Given the description of an element on the screen output the (x, y) to click on. 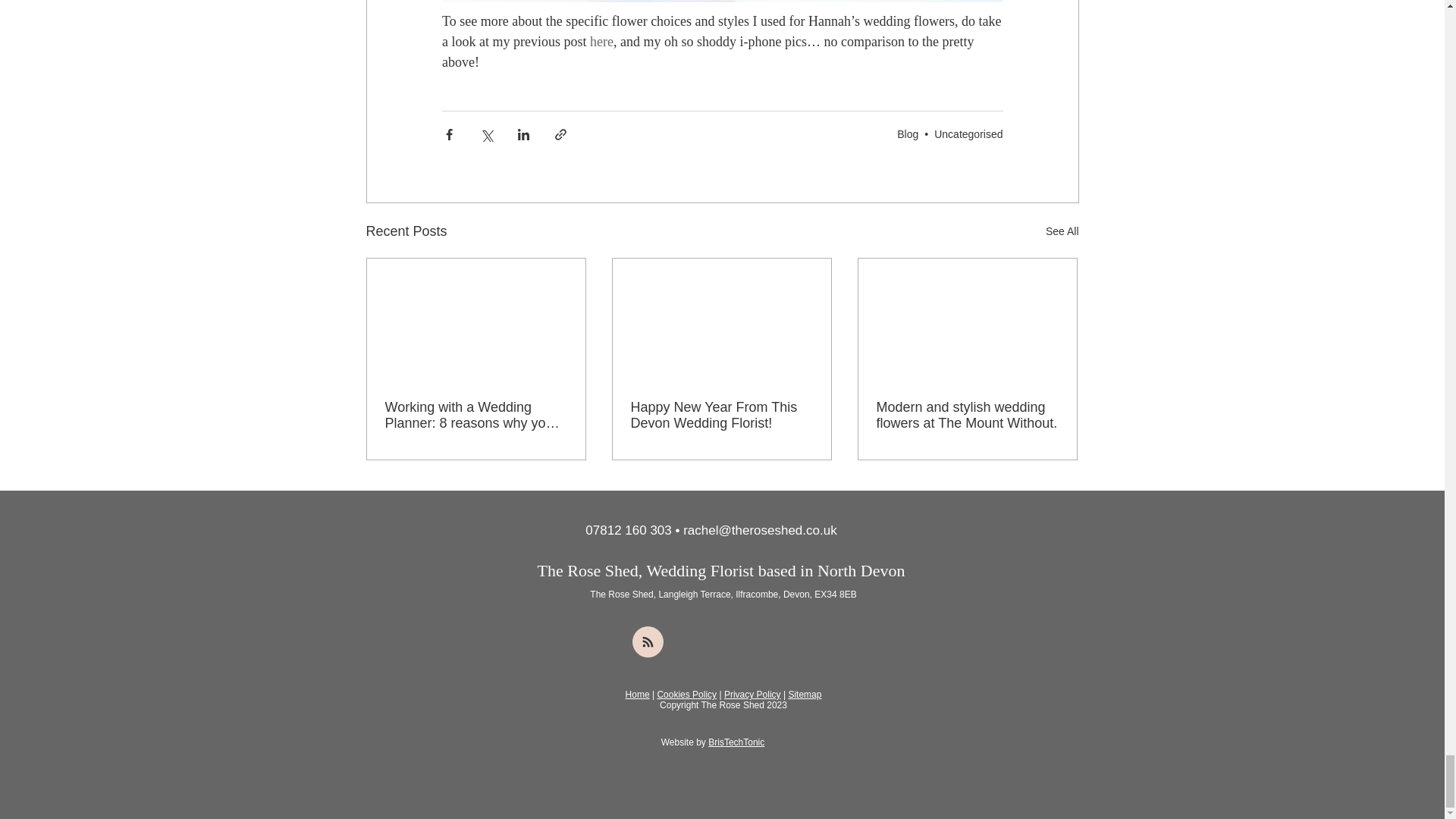
07812 160 303 (628, 530)
Uncategorised (968, 133)
Happy New Year From This Devon Wedding Florist! (721, 415)
Modern and stylish wedding flowers at The Mount Without. (967, 415)
here (600, 41)
Blog (907, 133)
See All (1061, 231)
